Given the description of an element on the screen output the (x, y) to click on. 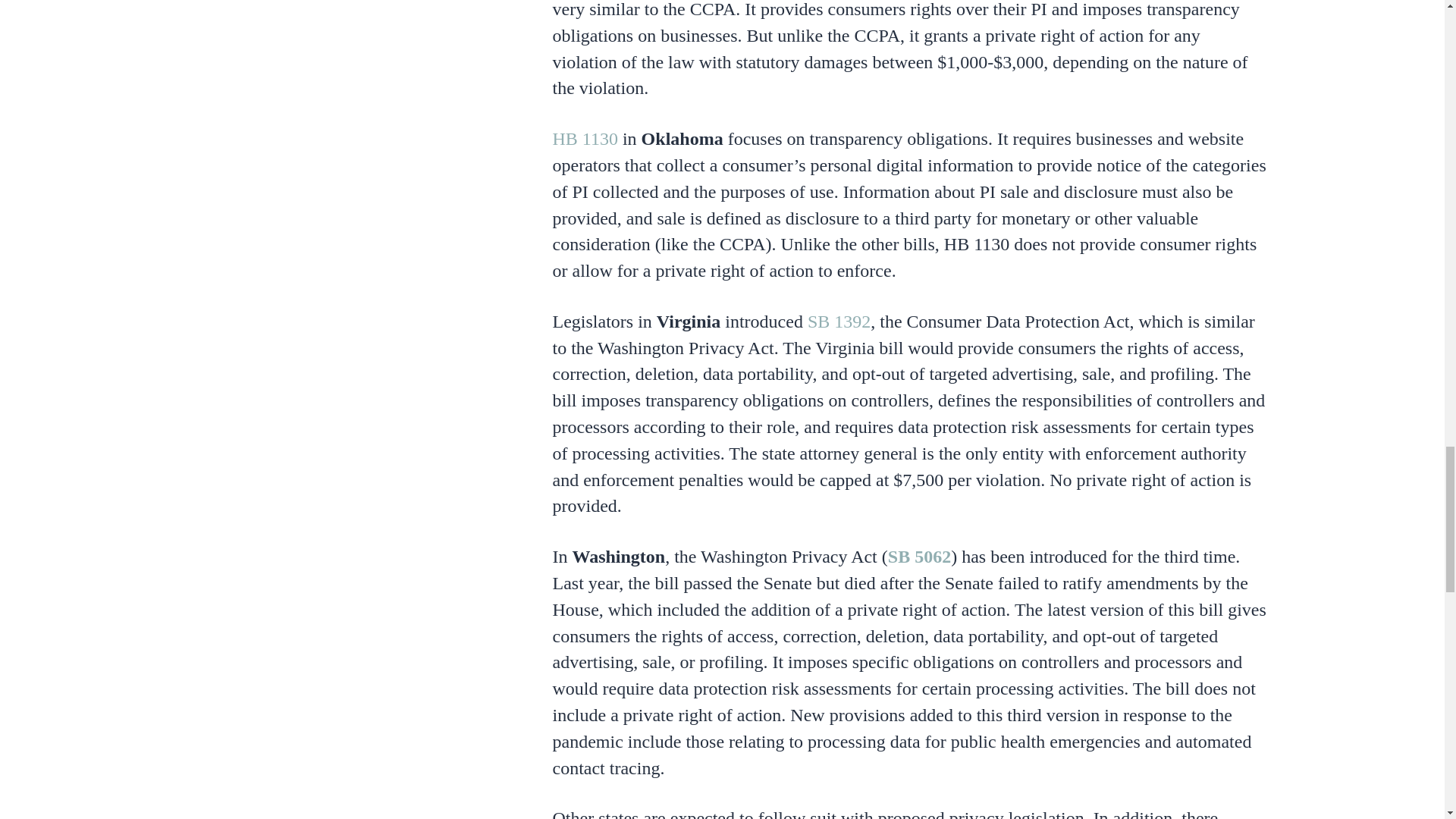
HB 1130 (584, 138)
SB 5062 (919, 556)
SB 1392 (839, 321)
